Given the description of an element on the screen output the (x, y) to click on. 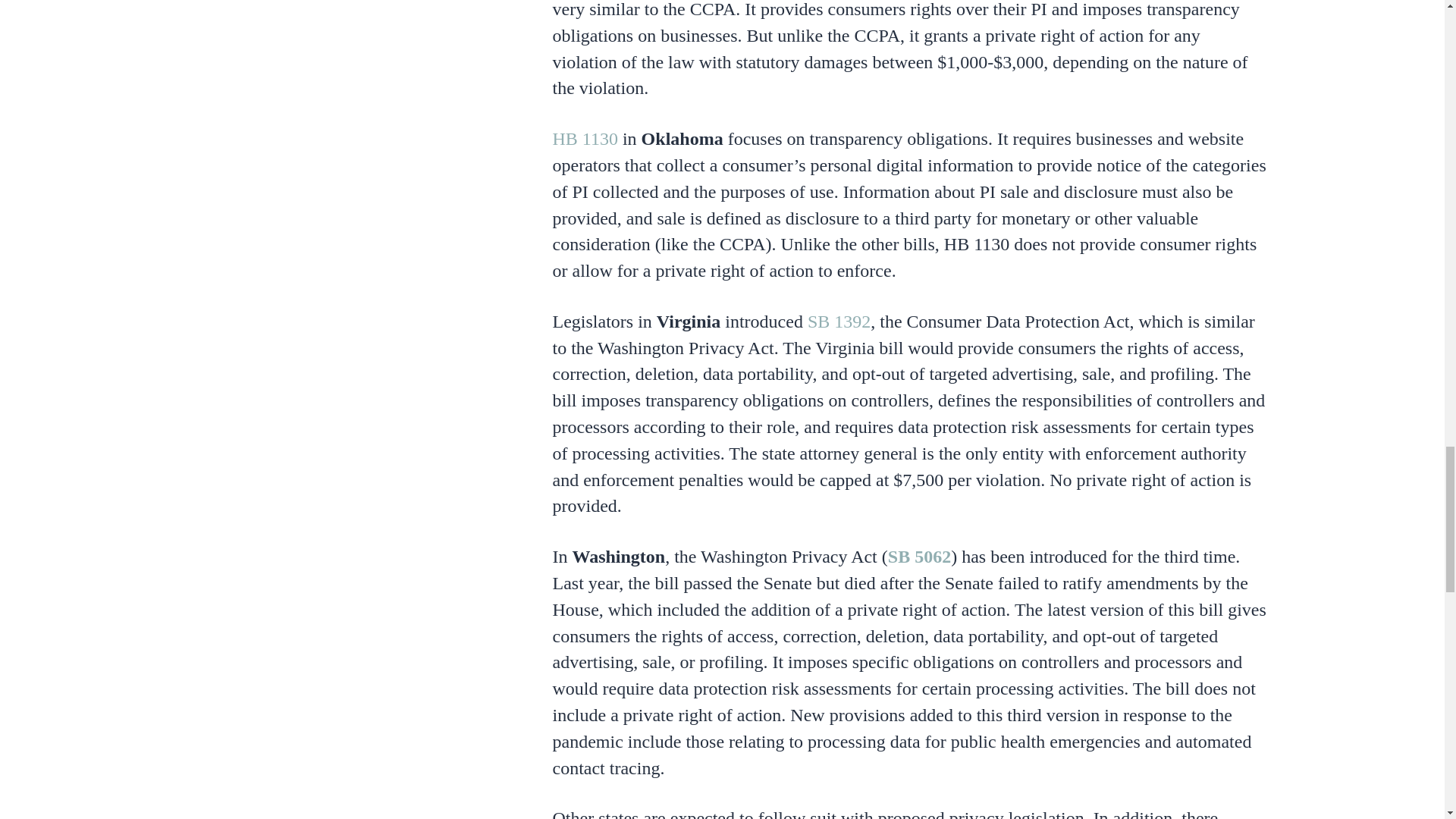
HB 1130 (584, 138)
SB 5062 (919, 556)
SB 1392 (839, 321)
